Given the description of an element on the screen output the (x, y) to click on. 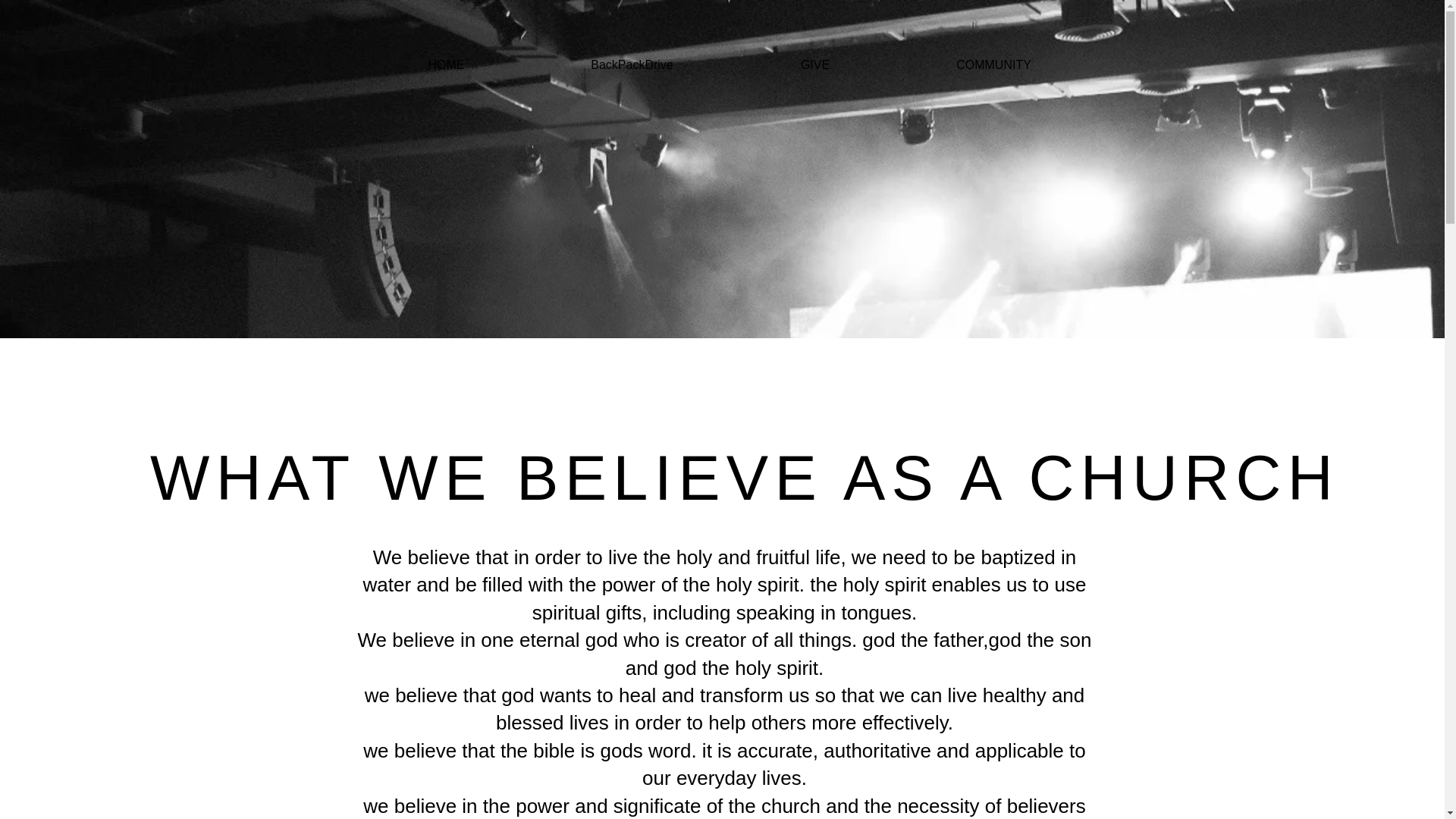
GIVE (814, 64)
BackPackDrive (631, 64)
COMMUNITY (993, 64)
HOME (446, 64)
